Given the description of an element on the screen output the (x, y) to click on. 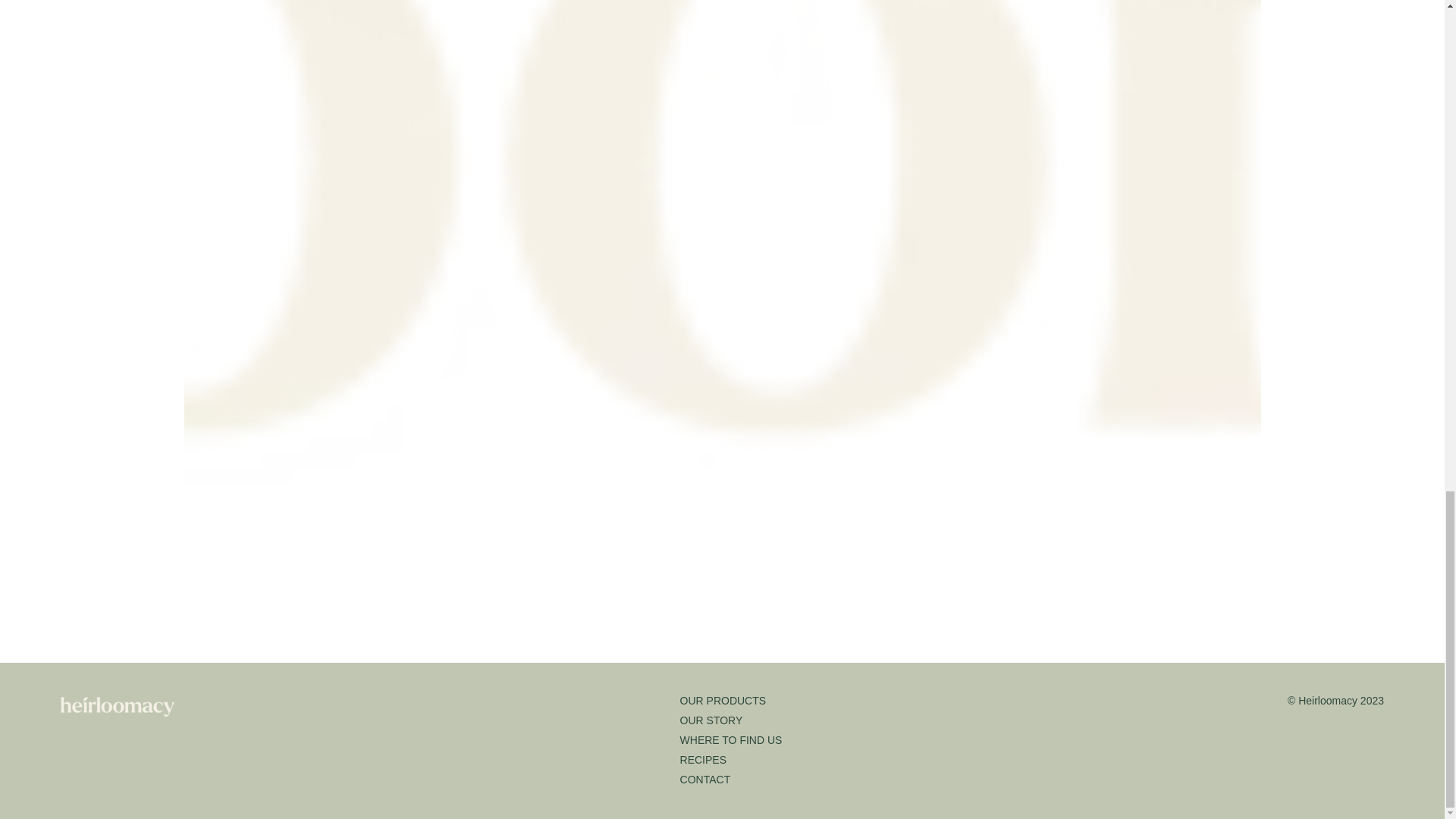
OUR PRODUCTS (723, 700)
OUR STORY (710, 720)
RECIPES (702, 759)
WHERE TO FIND US (731, 739)
CONTACT (704, 779)
